Given the description of an element on the screen output the (x, y) to click on. 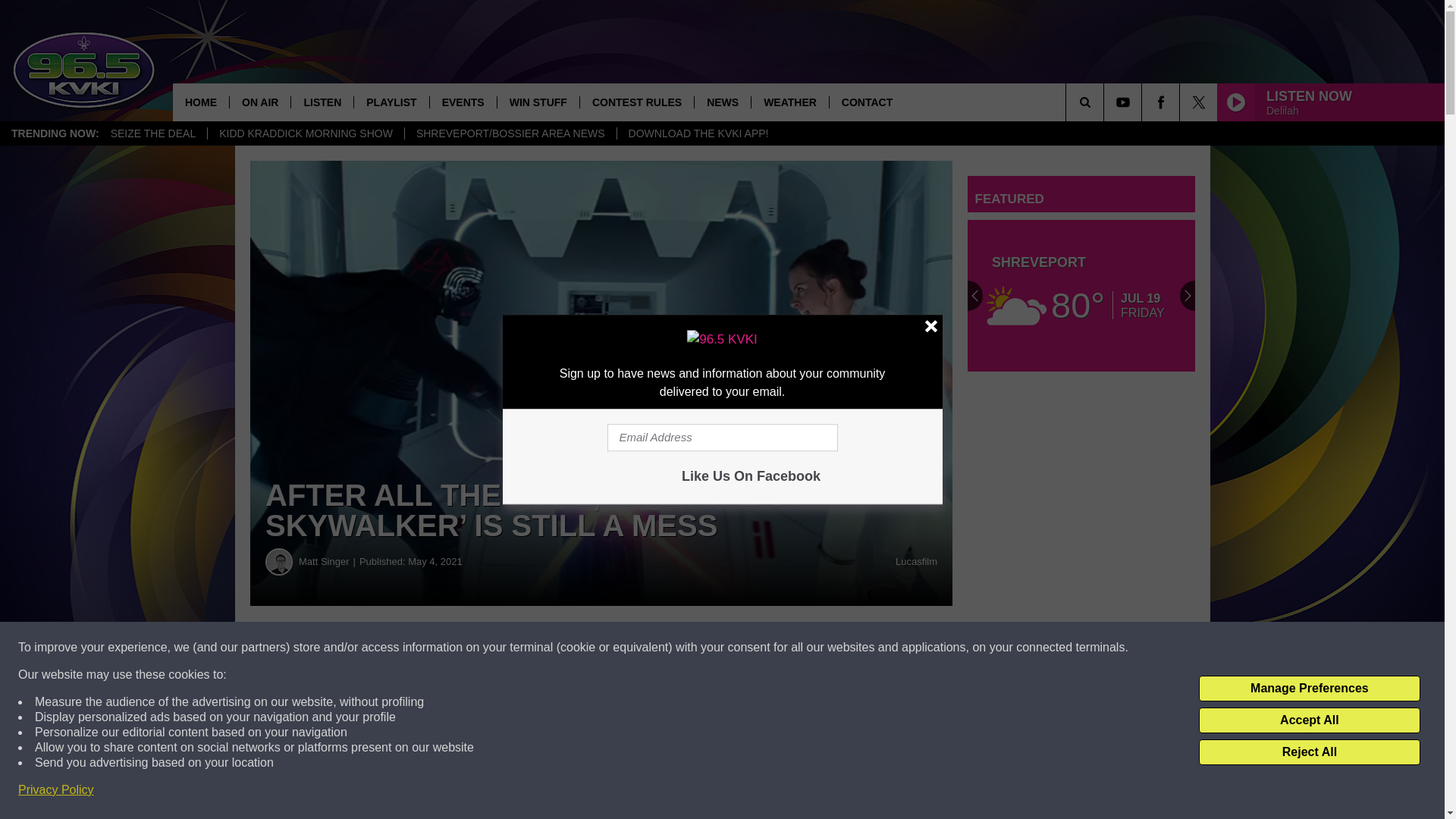
SEARCH (1106, 102)
Privacy Policy (55, 789)
ON AIR (258, 102)
Share on Twitter (741, 647)
WIN STUFF (537, 102)
PLAYLIST (390, 102)
Accept All (1309, 720)
SEARCH (1106, 102)
CONTEST RULES (636, 102)
LISTEN (321, 102)
Email Address (722, 437)
HOME (200, 102)
DOWNLOAD THE KVKI APP! (697, 133)
Reject All (1309, 751)
SEIZE THE DEAL (153, 133)
